Given the description of an element on the screen output the (x, y) to click on. 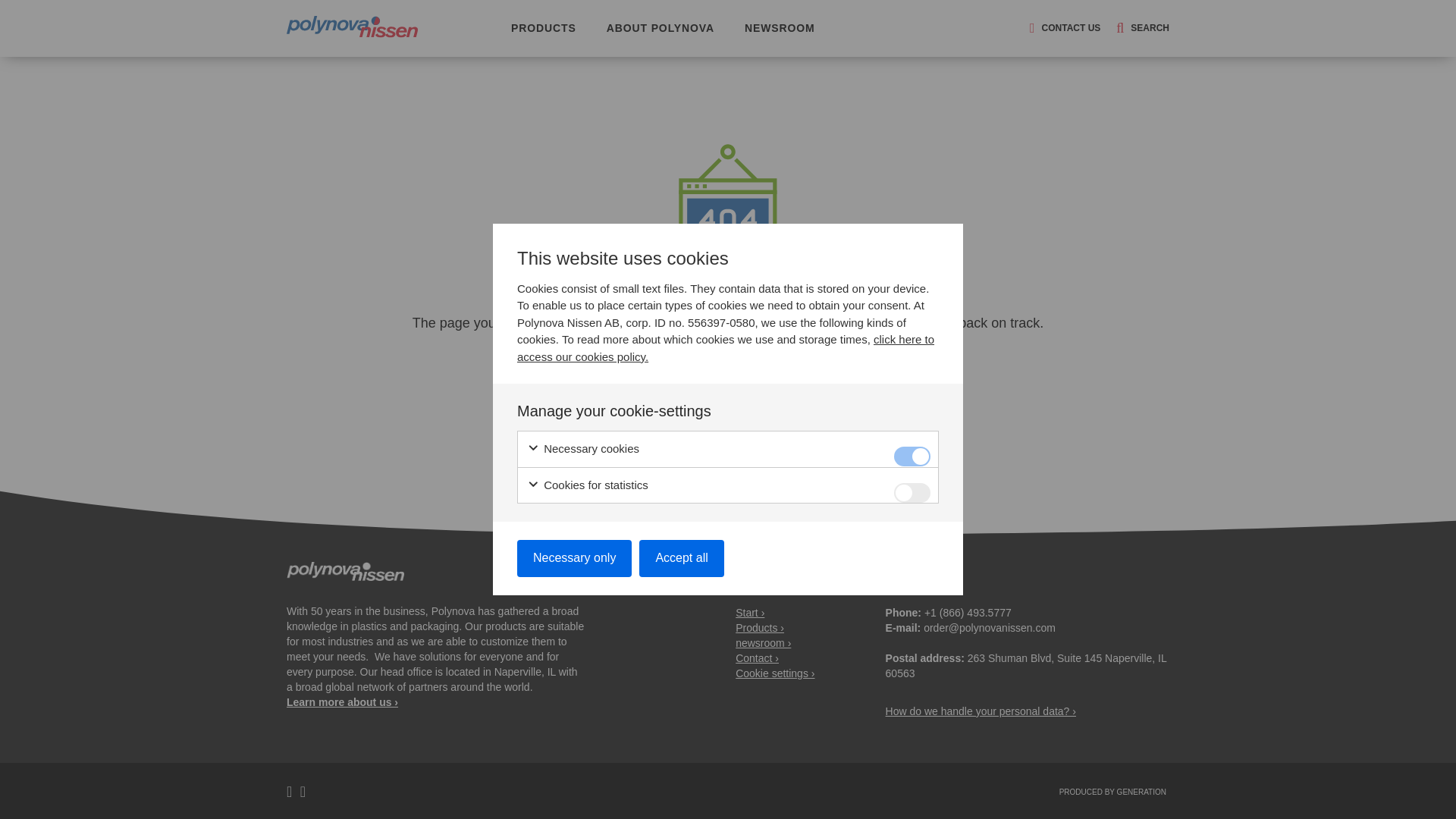
GENERATION (1141, 791)
NEWSROOM (779, 27)
ABOUT POLYNOVA (660, 27)
Accept all (681, 557)
Necessary only (573, 557)
263 Shuman Blvd, Suite 145 Naperville, IL 60563 (1026, 665)
click here to access our cookies policy. (725, 347)
SEARCH (1138, 27)
PRODUCTS (543, 27)
HOMEPAGE (727, 382)
CONTACT US (1059, 27)
